Given the description of an element on the screen output the (x, y) to click on. 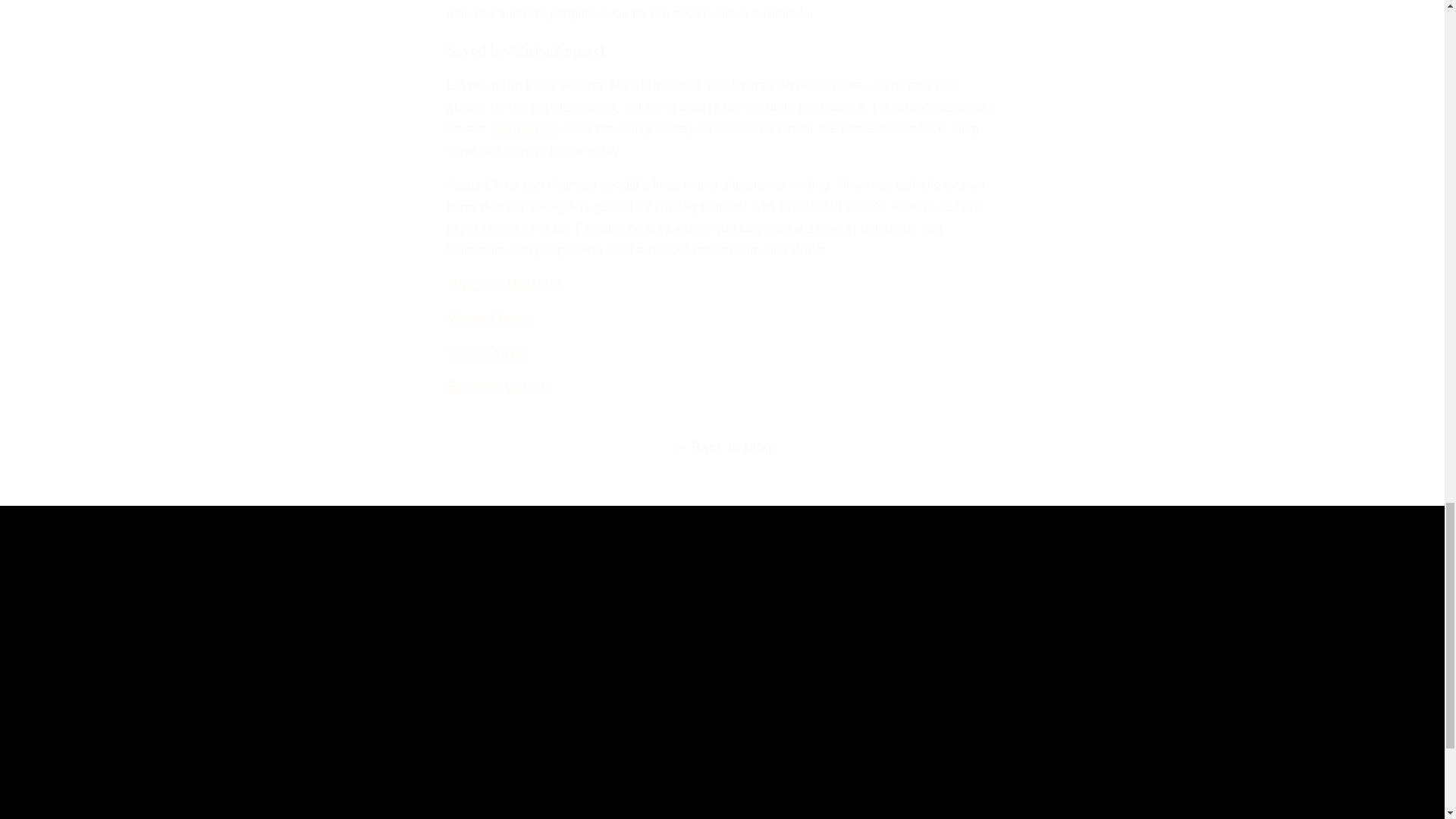
Manna Church (490, 318)
Overcomer Unisex Tee (524, 128)
Epicenter Church (497, 386)
Simon Temple AME Zion Church (487, 351)
